Given the description of an element on the screen output the (x, y) to click on. 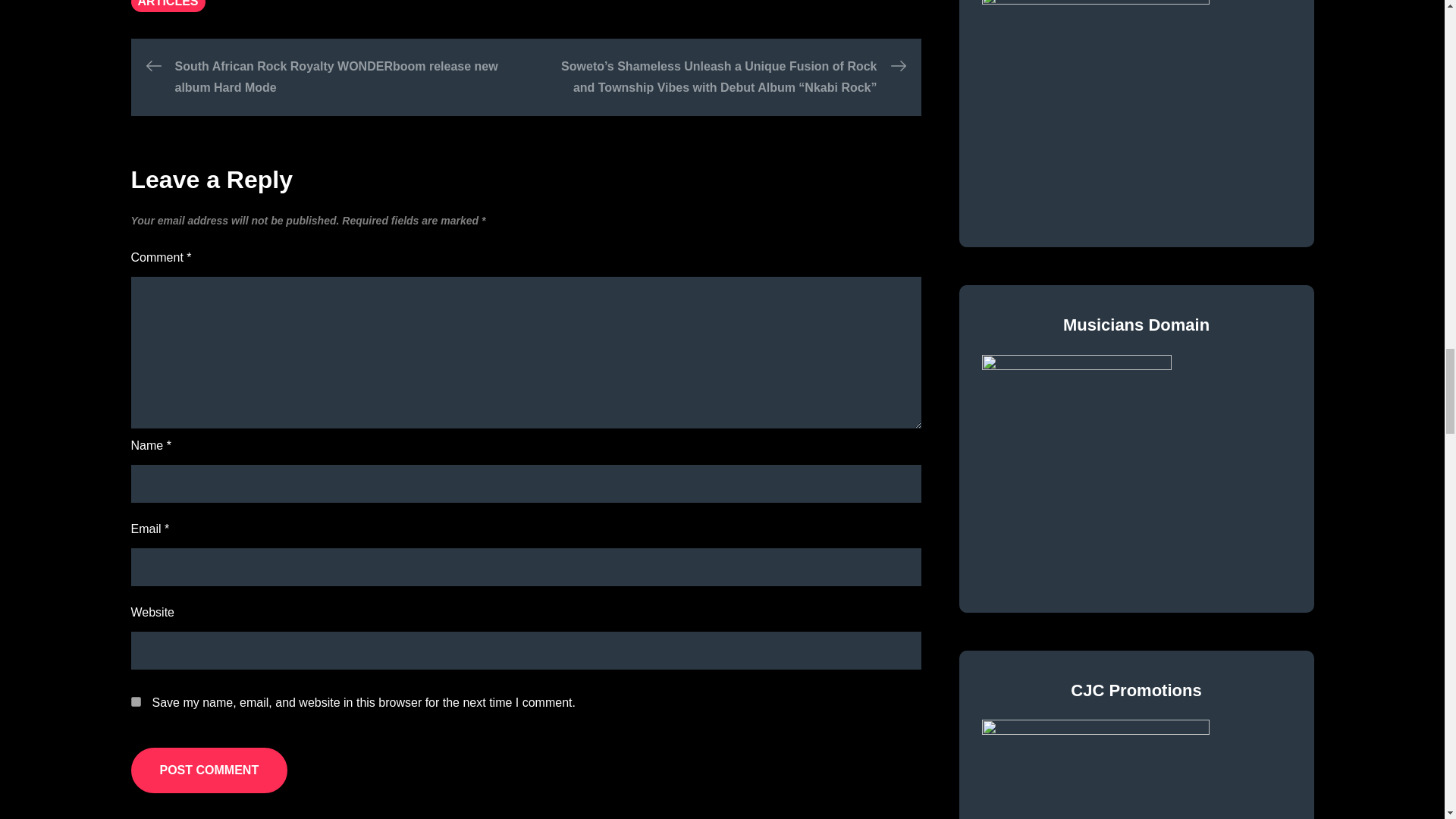
ARTICLES (168, 6)
Post Comment (208, 770)
yes (135, 701)
Post Comment (208, 770)
